Given the description of an element on the screen output the (x, y) to click on. 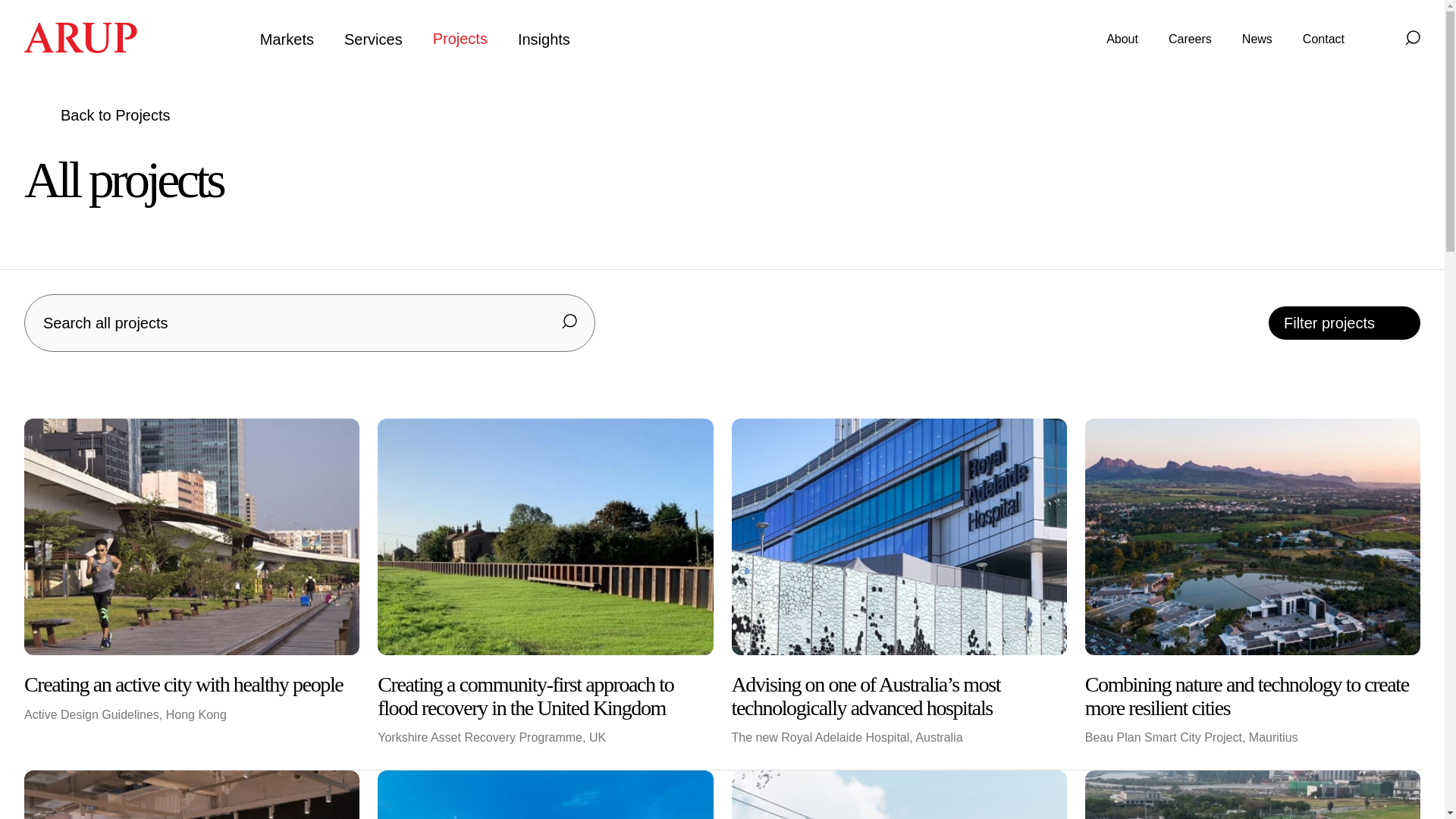
News (1256, 39)
Contact (1323, 39)
Insights (544, 39)
Markets (287, 39)
Back to Projects (97, 115)
Careers (1190, 39)
Filter projects (1344, 322)
Services (373, 39)
About (1122, 39)
Projects (459, 38)
